Given the description of an element on the screen output the (x, y) to click on. 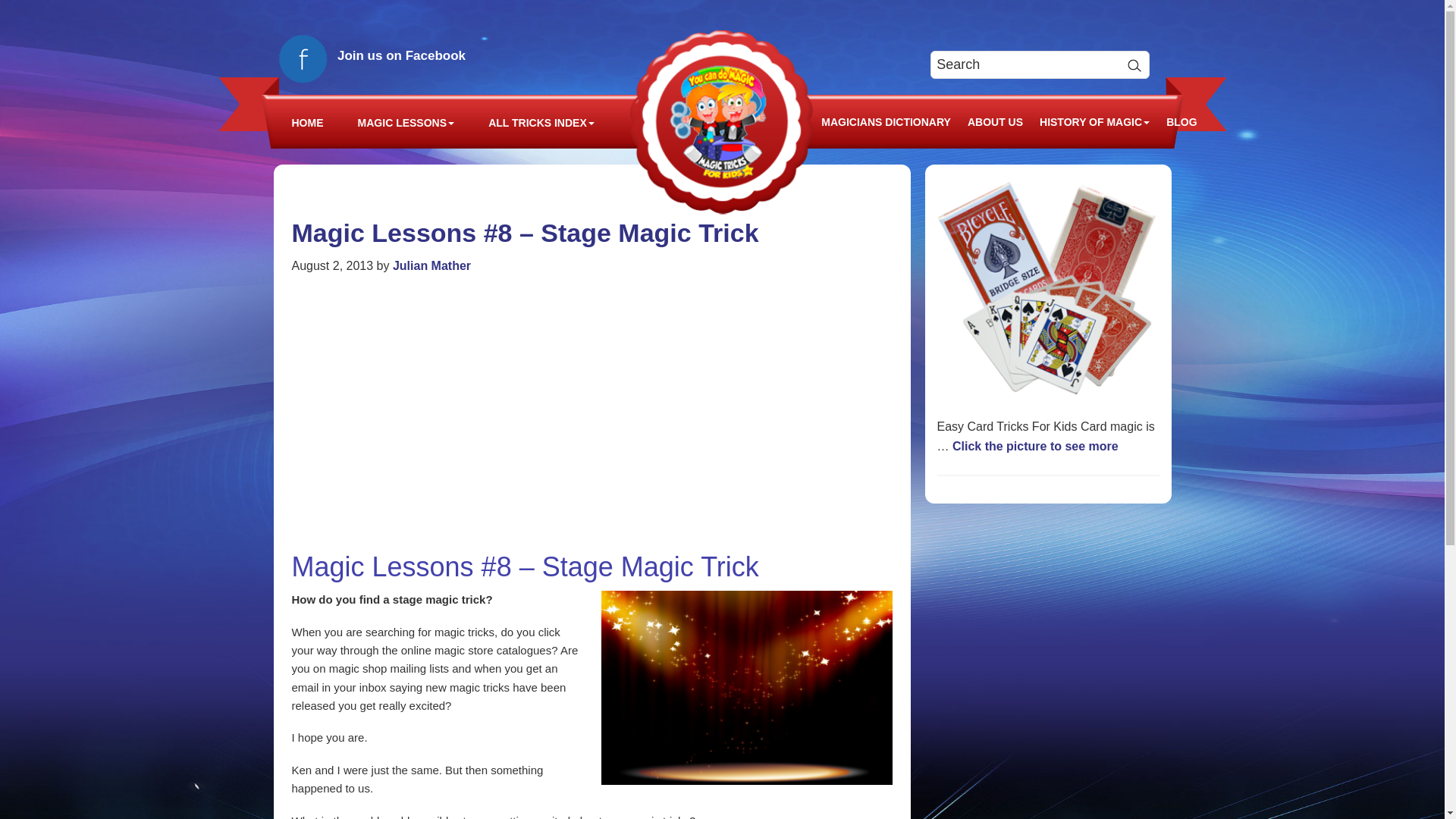
MAGIC LESSONS (406, 122)
Search (1134, 64)
Search (1134, 64)
Magic Tricks For Kids (721, 122)
Search (1134, 64)
Join us on Facebook (377, 55)
HOME (307, 122)
